Given the description of an element on the screen output the (x, y) to click on. 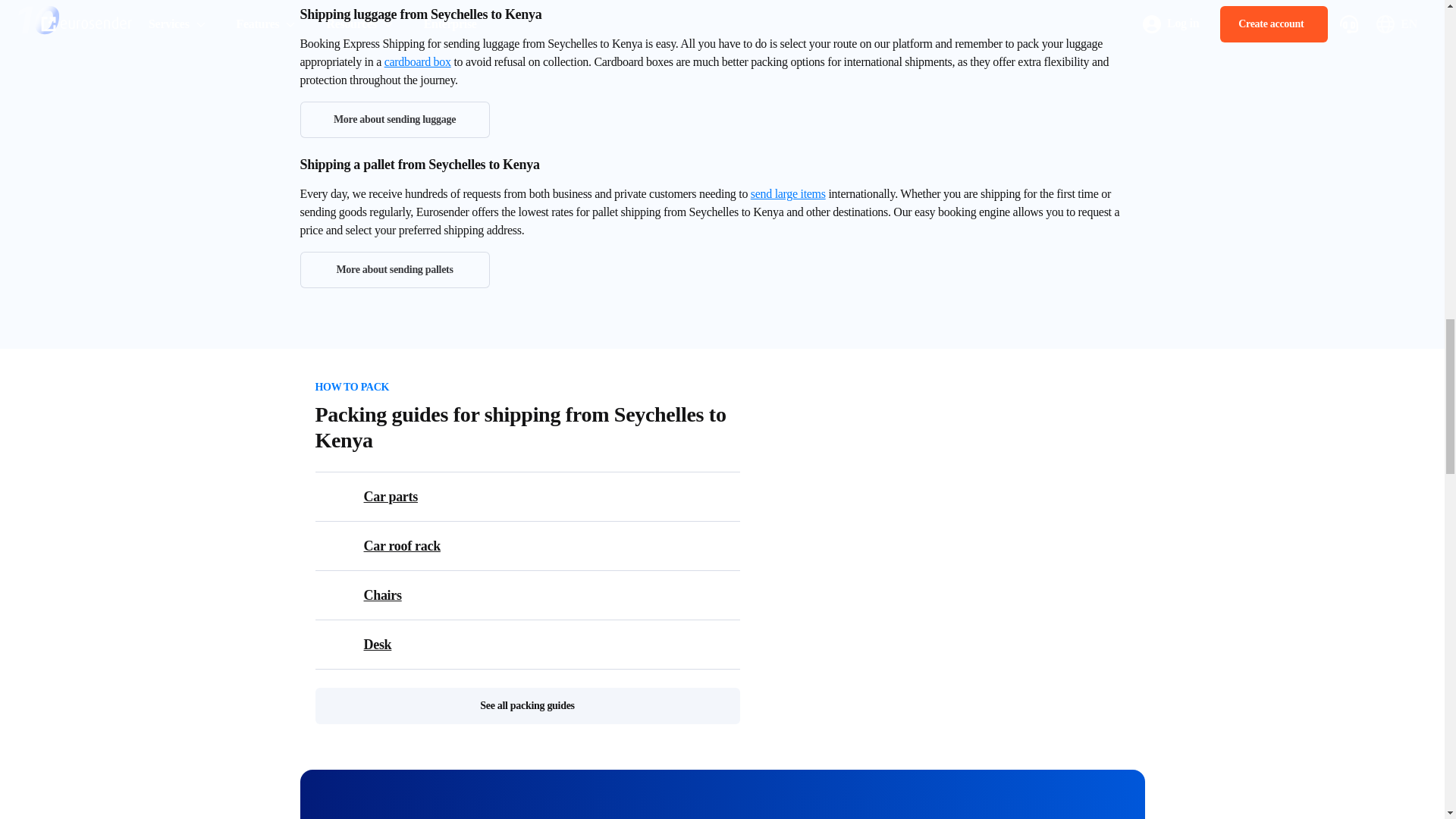
cardboard box (417, 61)
More about sending luggage (394, 119)
send large items (788, 193)
Car roof rack (537, 545)
Car parts (537, 496)
More about sending pallets (394, 269)
